Given the description of an element on the screen output the (x, y) to click on. 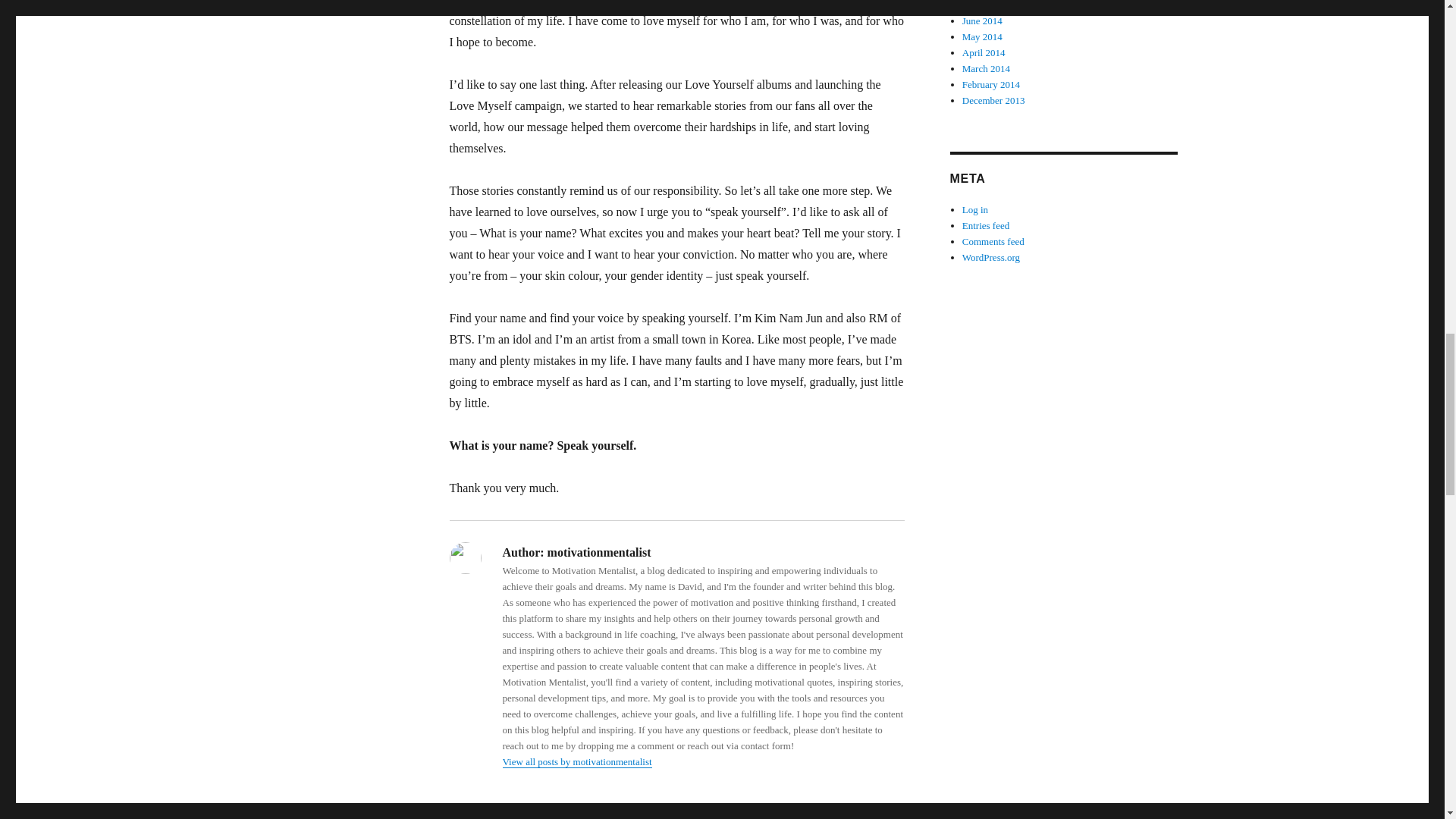
View all posts by motivationmentalist (576, 761)
